Given the description of an element on the screen output the (x, y) to click on. 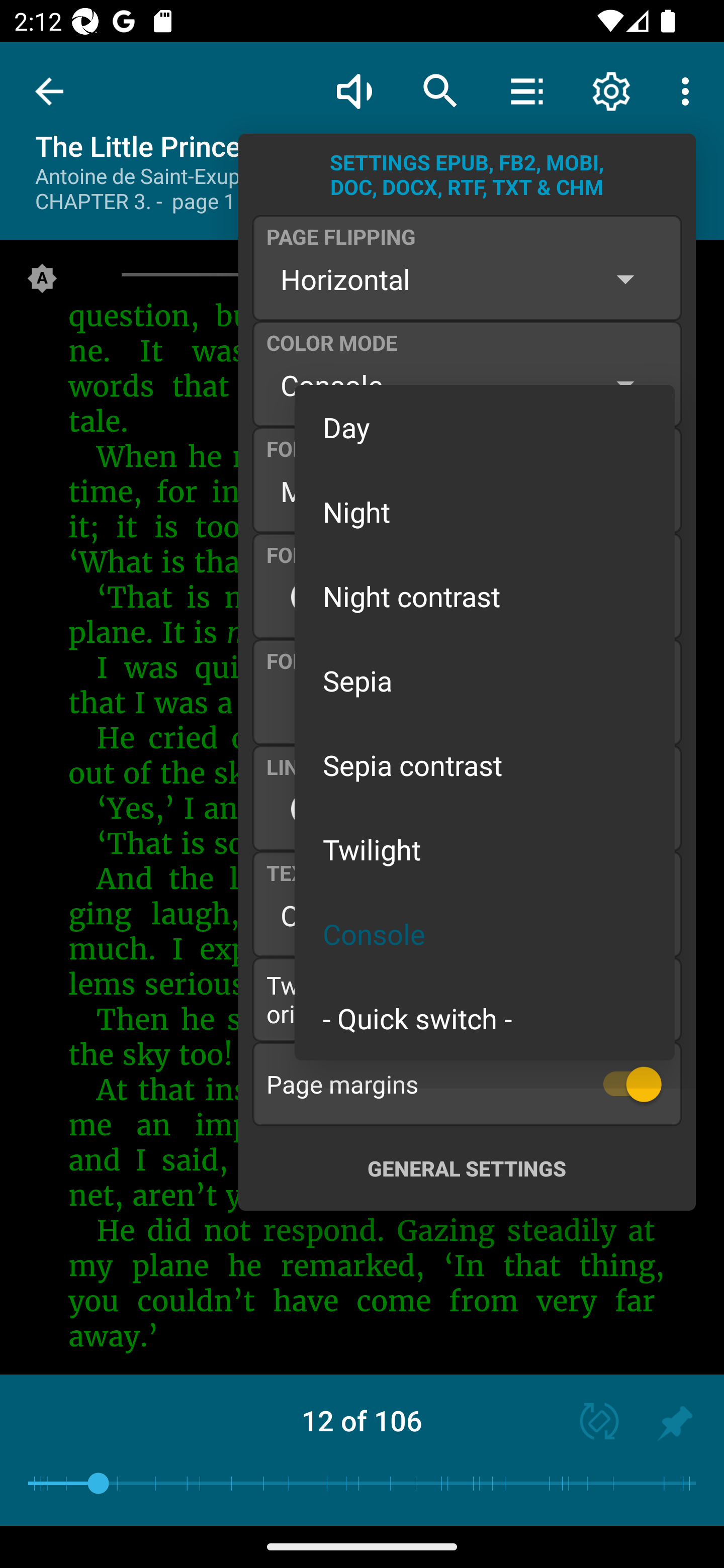
Day (484, 426)
Night (484, 510)
Night contrast (484, 595)
Sepia (484, 680)
Sepia contrast (484, 764)
Twilight (484, 849)
Console (484, 933)
- Quick switch - (484, 1017)
